Given the description of an element on the screen output the (x, y) to click on. 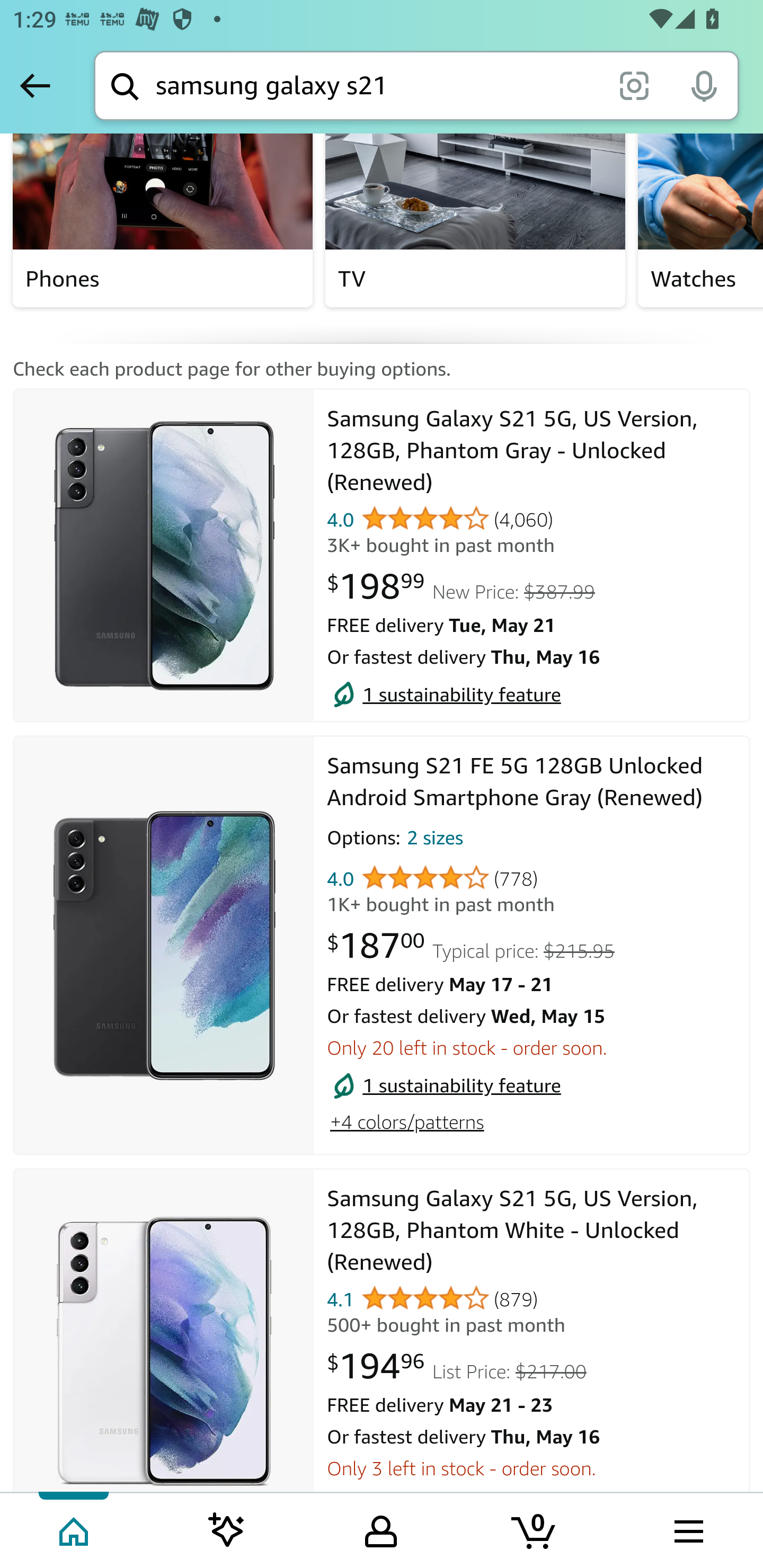
Back (35, 85)
scan it (633, 85)
2 sizes (434, 840)
+4 colors/patterns (406, 1122)
Home Tab 1 of 5 (75, 1529)
Inspire feed Tab 2 of 5 (227, 1529)
Your Amazon.com Tab 3 of 5 (380, 1529)
Cart 0 item Tab 4 of 5 0 (534, 1529)
Browse menu Tab 5 of 5 (687, 1529)
